Given the description of an element on the screen output the (x, y) to click on. 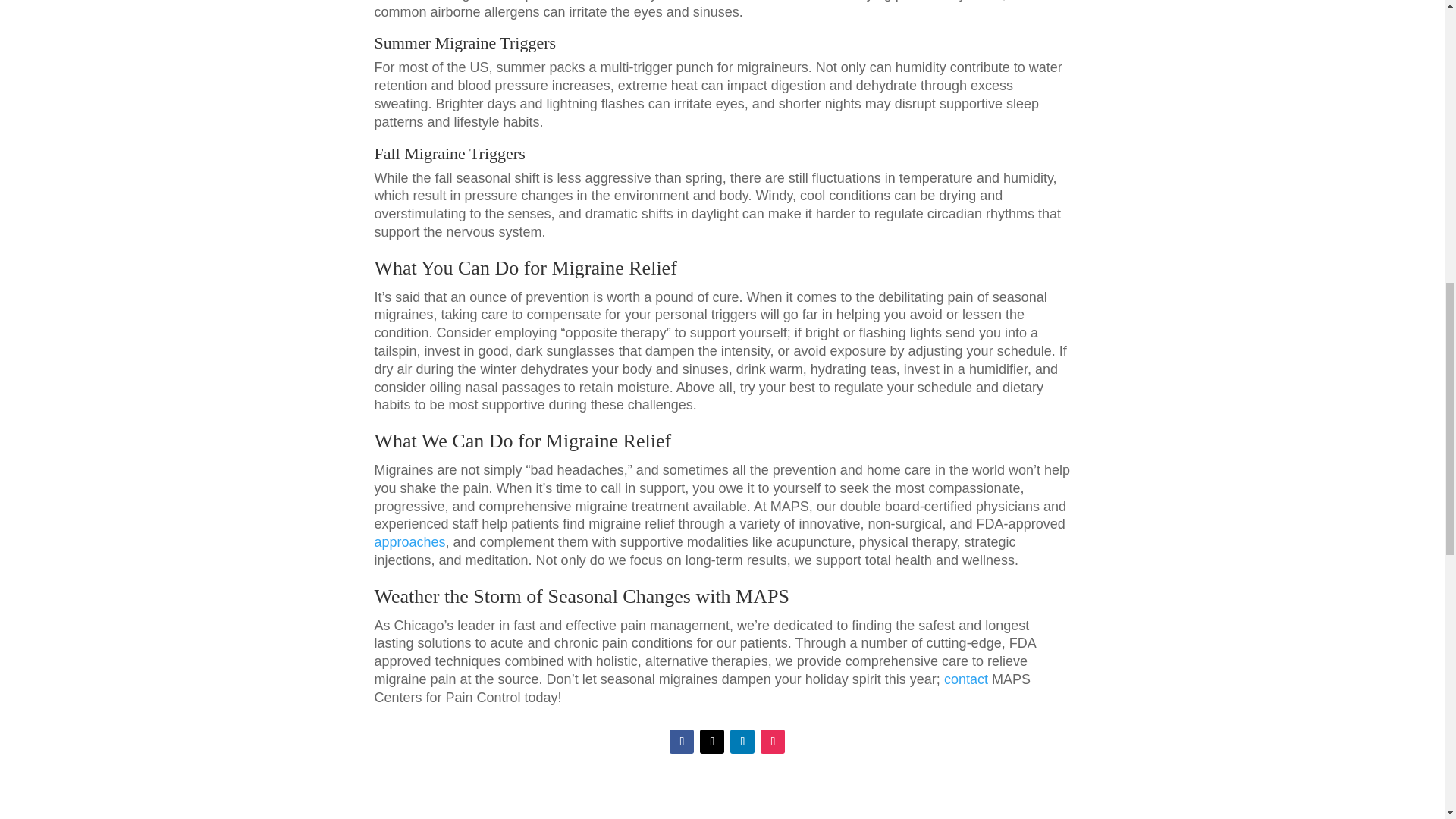
Follow on X (711, 741)
Follow on Facebook (681, 741)
Follow on LinkedIn (742, 741)
Follow on Instagram (772, 741)
